Given the description of an element on the screen output the (x, y) to click on. 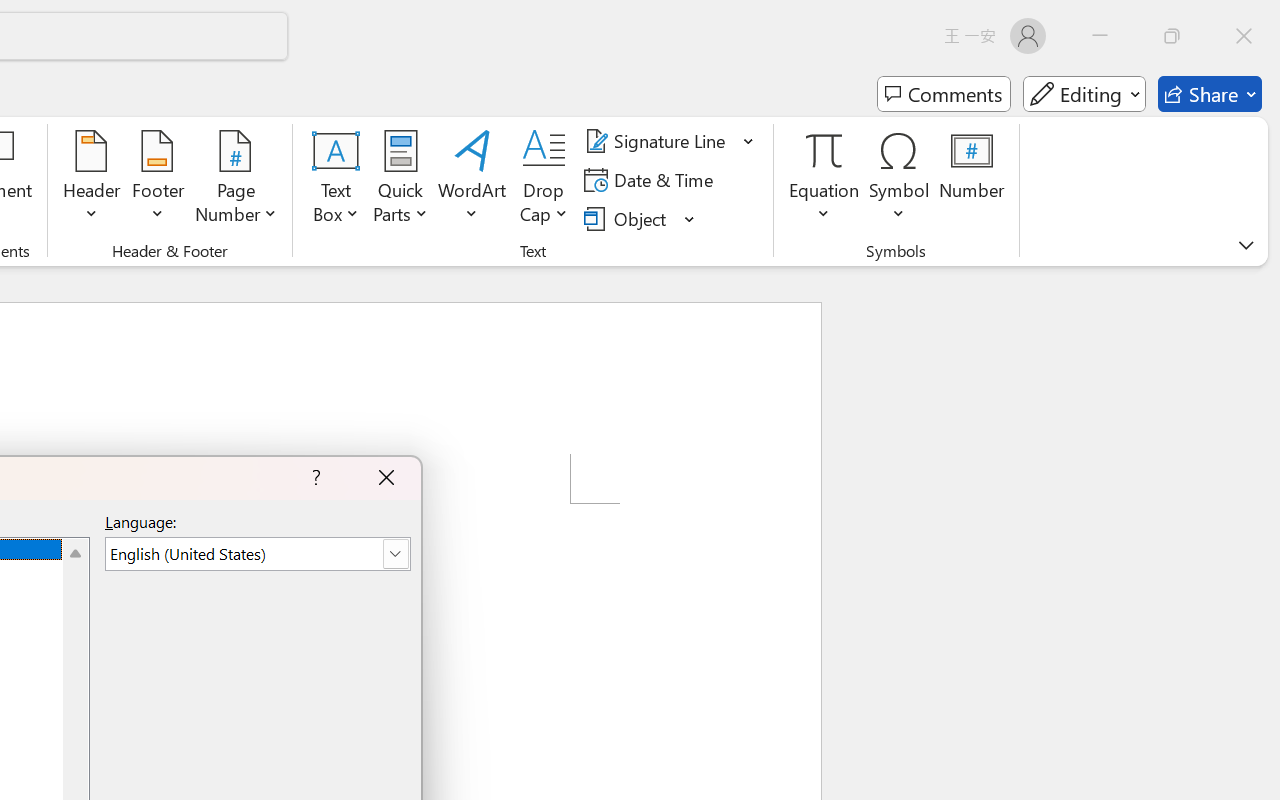
Swap "from" and "to" languages. (1105, 426)
Auto-detect (1066, 250)
